Given the description of an element on the screen output the (x, y) to click on. 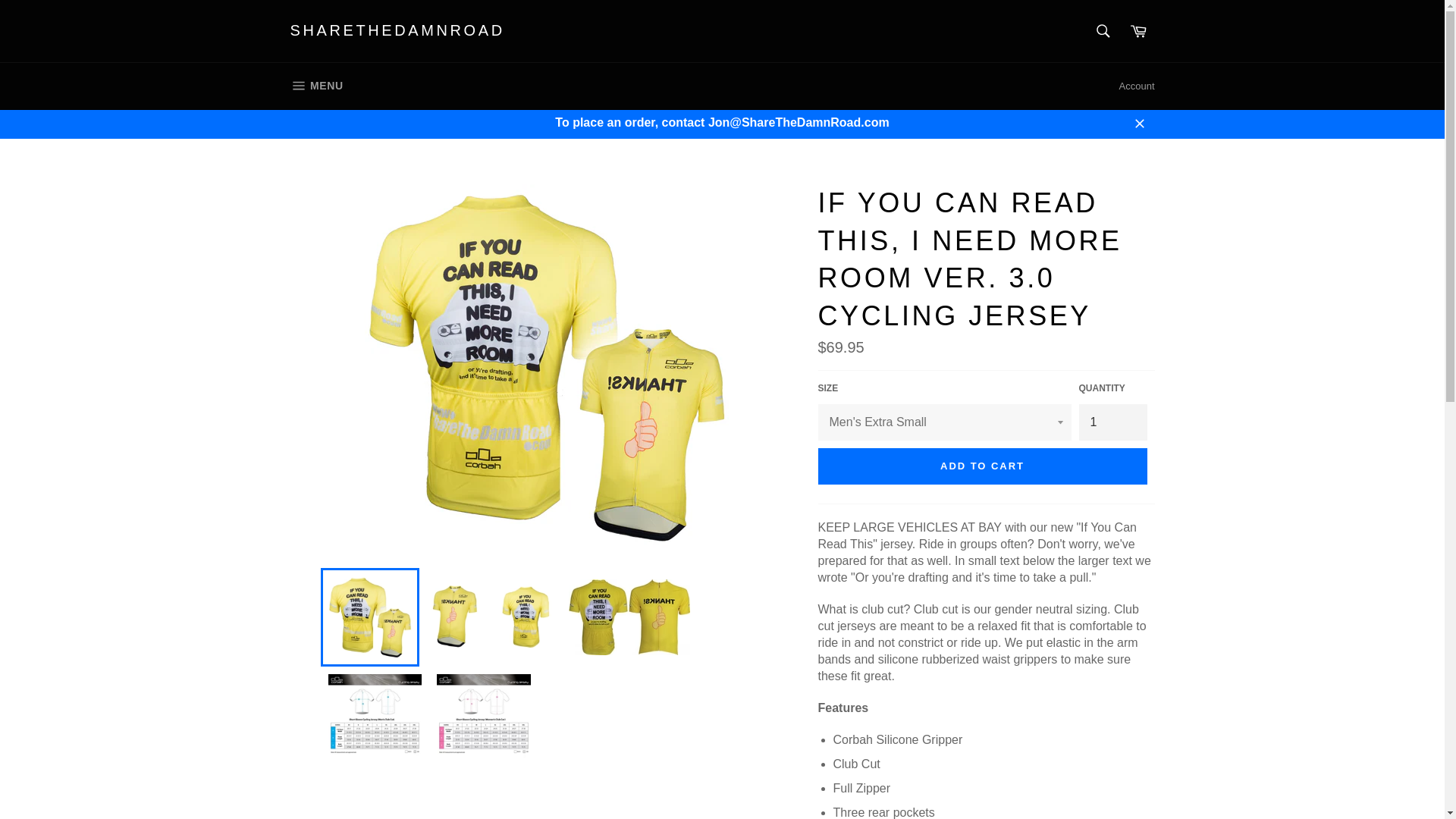
Cart (1138, 30)
1 (1112, 422)
SHARETHEDAMNROAD (316, 86)
Search (396, 30)
